Given the description of an element on the screen output the (x, y) to click on. 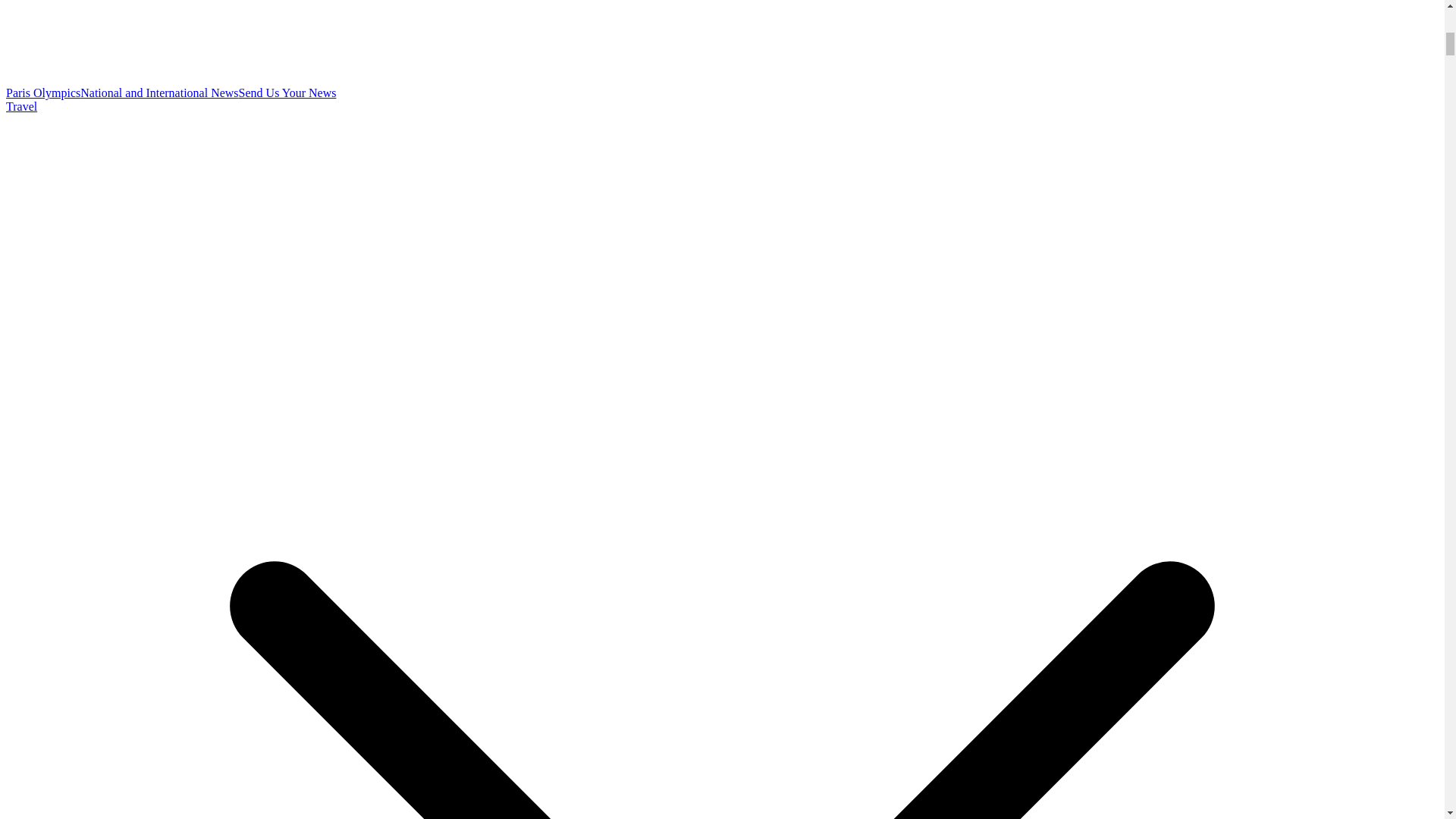
Paris Olympics (42, 92)
National and International News (159, 92)
Send Us Your News (287, 92)
Travel (21, 106)
